Given the description of an element on the screen output the (x, y) to click on. 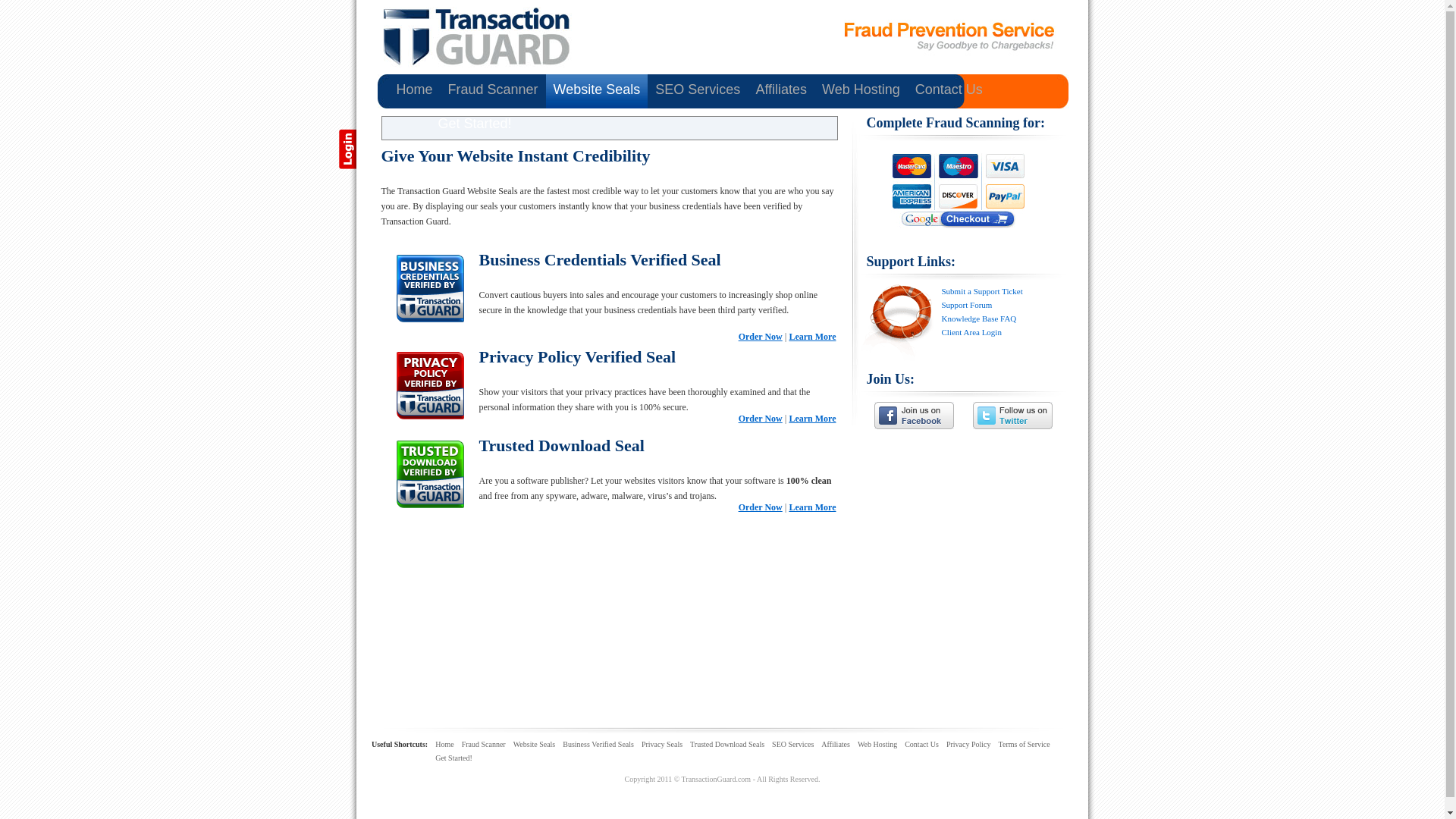
Business Verified Seal (812, 336)
Order Now (760, 336)
Home (413, 91)
Affiliates (780, 91)
Learn More (812, 507)
Order Seal (760, 336)
Privacy Policy Seal (812, 418)
Fraud Scanner (493, 91)
Support Forum (967, 304)
Order Seal (760, 507)
